Given the description of an element on the screen output the (x, y) to click on. 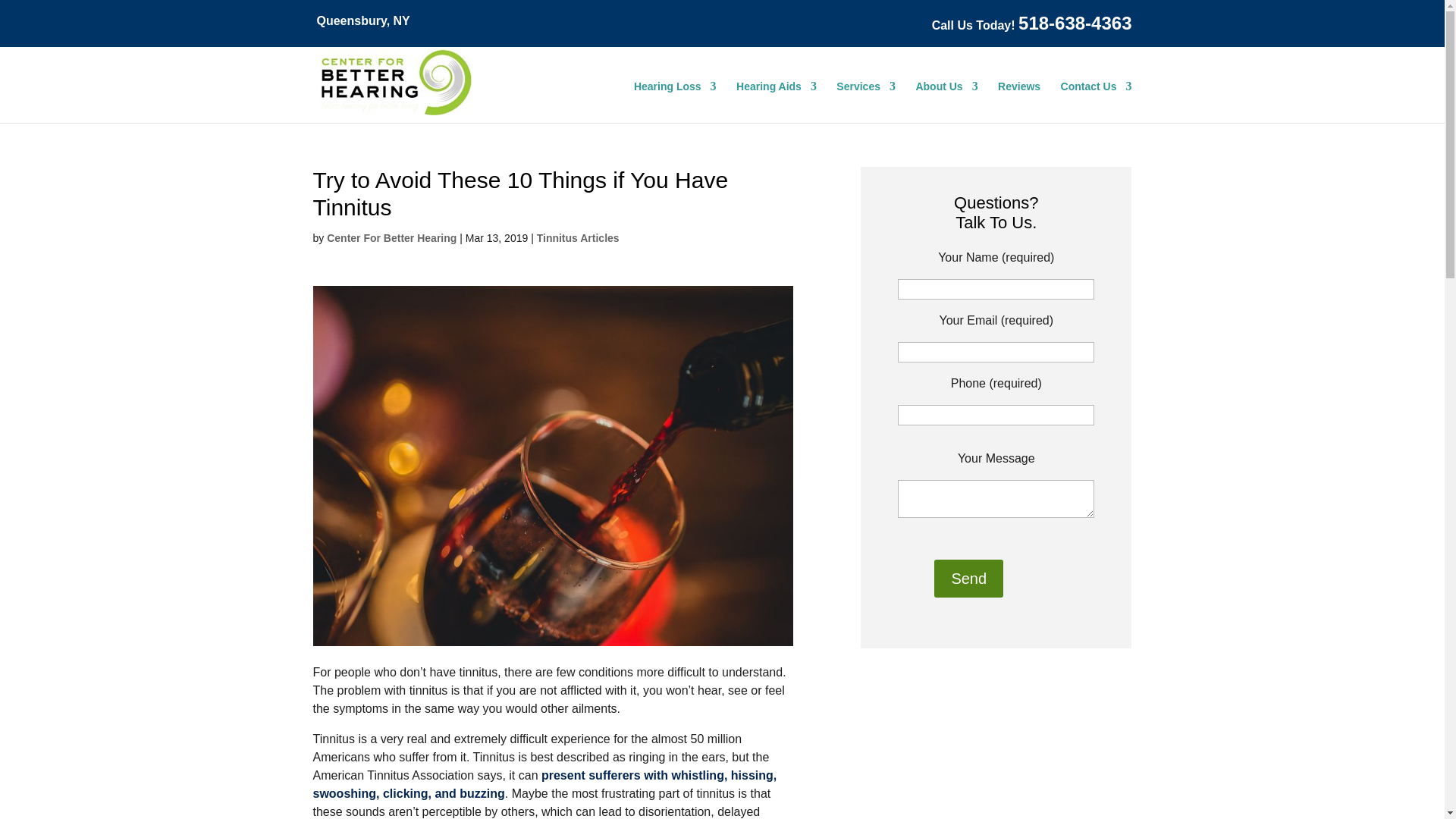
Services (865, 103)
Queensbury, NY (363, 20)
About Us (945, 103)
Posts by Center For Better Hearing (391, 237)
Reviews (1019, 103)
Hearing Loss (674, 103)
Center For Better Hearing (395, 112)
Hearing Aids (776, 103)
Send (968, 578)
Contact Us (1096, 103)
518-638-4363 (1074, 23)
